Given the description of an element on the screen output the (x, y) to click on. 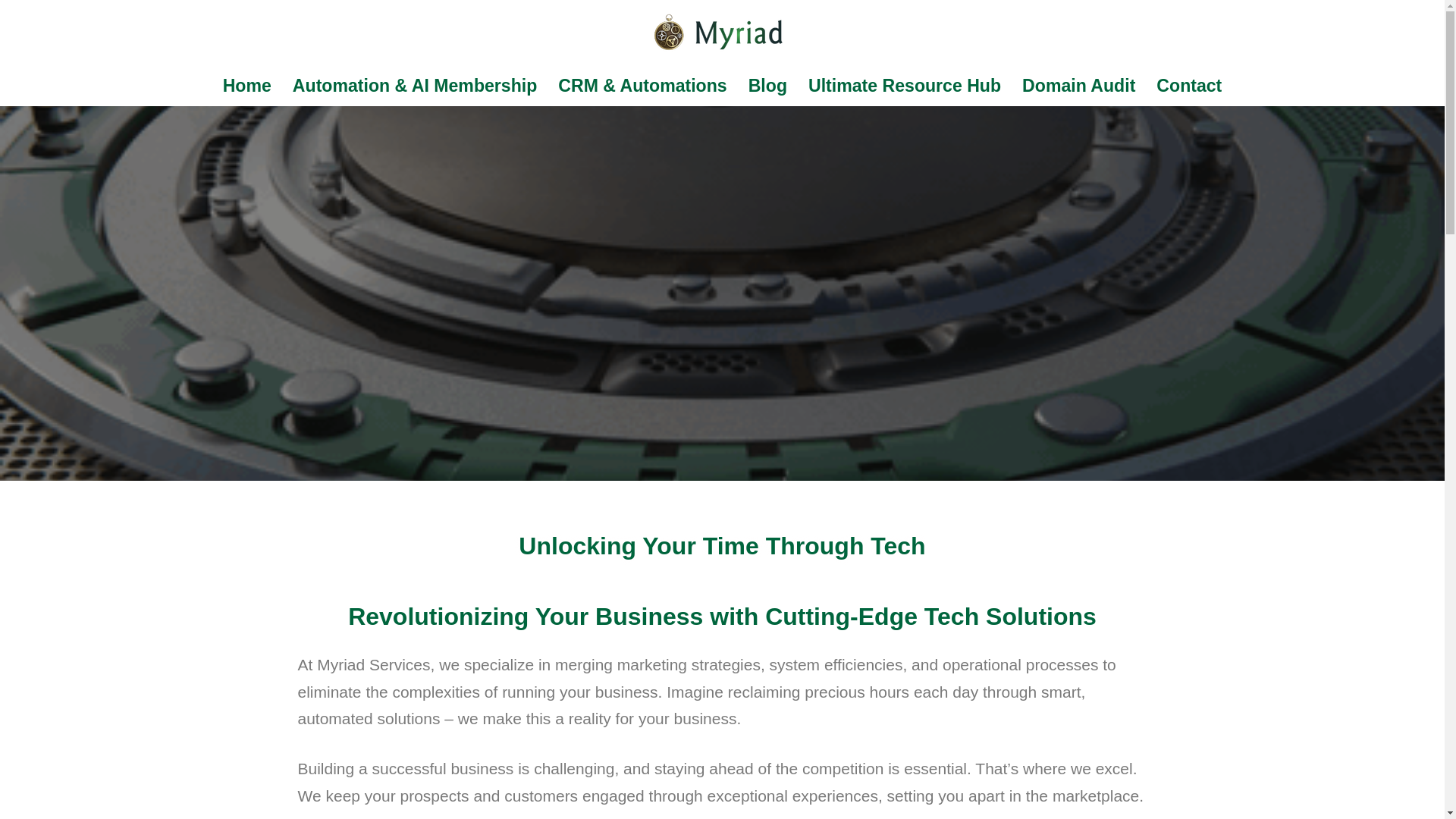
Home (246, 85)
Skip to content (11, 31)
Blog (767, 85)
Contact (1188, 85)
Ultimate Resource Hub (904, 85)
Domain Audit (1078, 85)
